Given the description of an element on the screen output the (x, y) to click on. 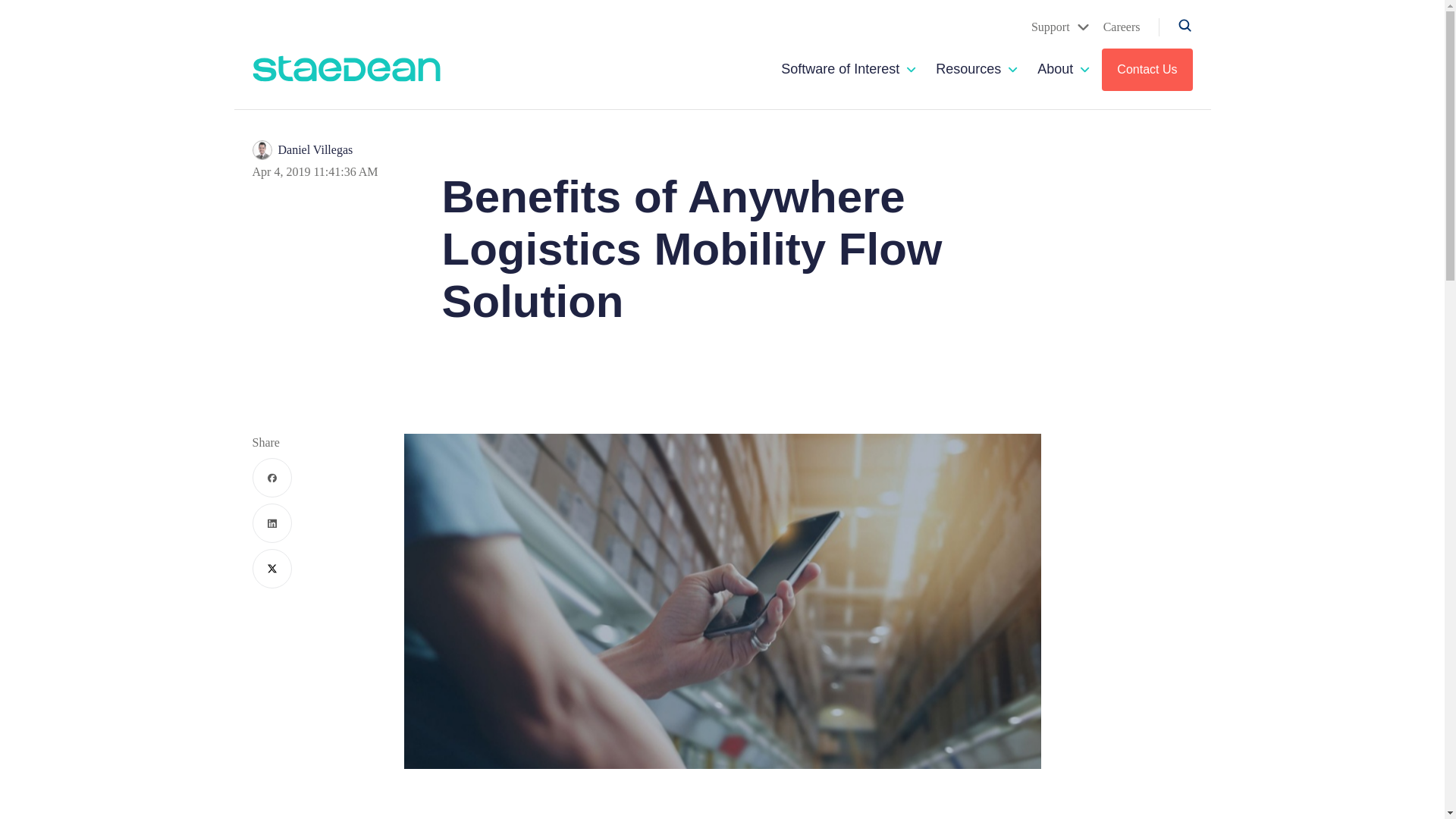
Support (1060, 27)
About (1054, 69)
Contact Us (1147, 69)
Resources (968, 69)
Software of Interest (839, 69)
Careers (1121, 27)
